Given the description of an element on the screen output the (x, y) to click on. 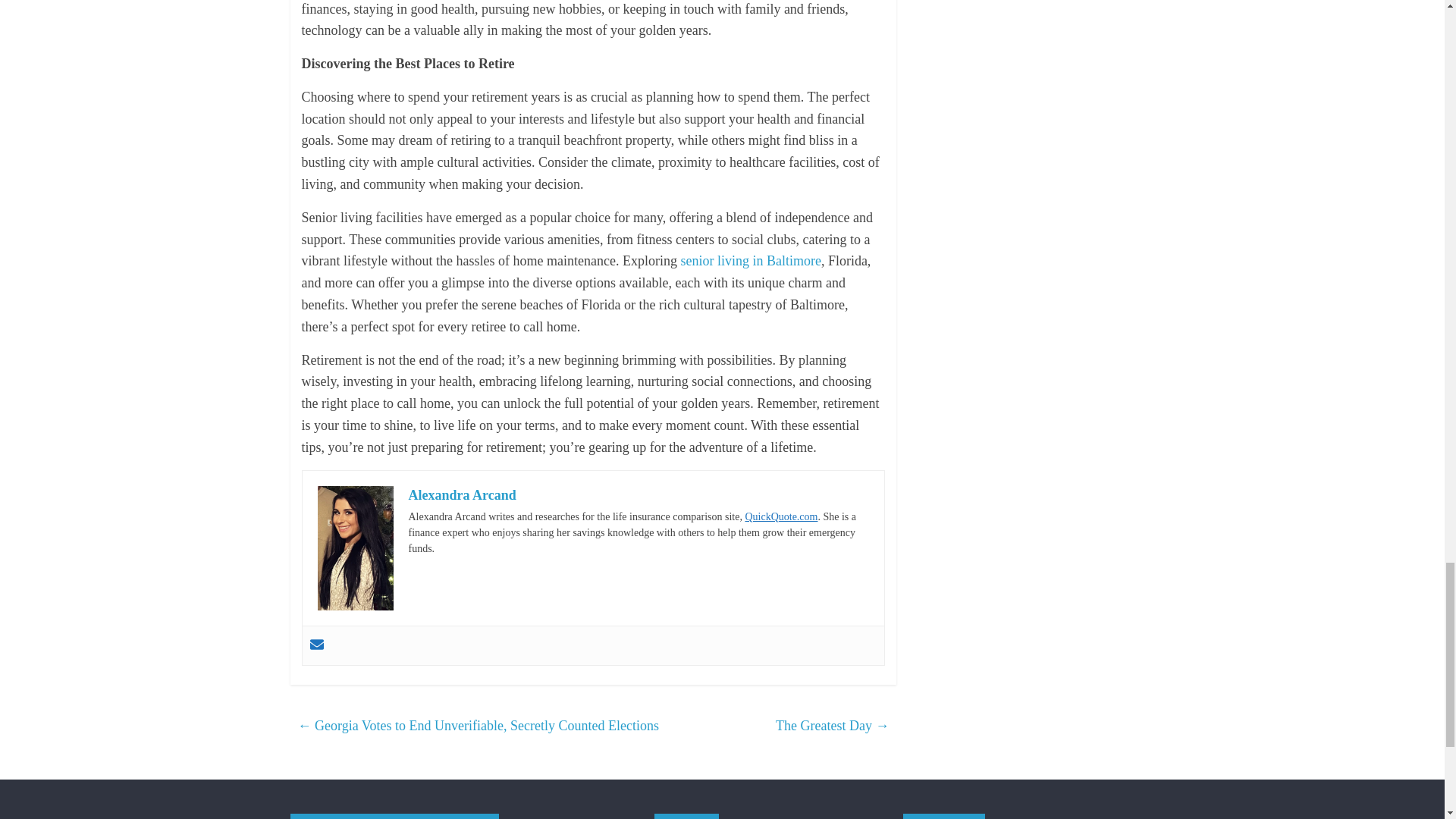
Alexandra Arcand (461, 494)
QuickQuote.com (780, 516)
senior living in Baltimore (750, 260)
